Given the description of an element on the screen output the (x, y) to click on. 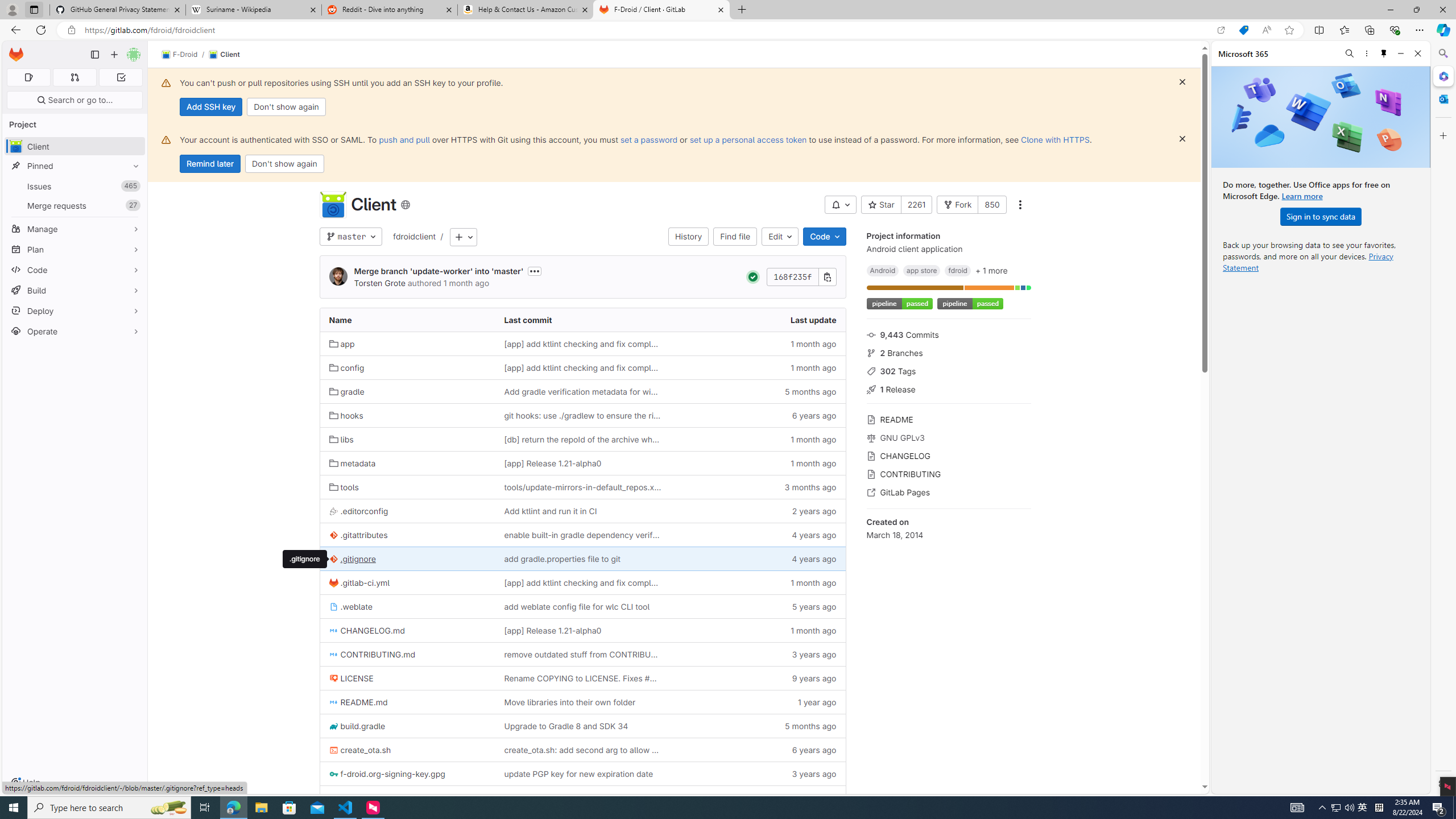
Last update (757, 319)
fdroidclient (414, 235)
GitLab Pages (948, 491)
More actions (1019, 204)
Client (224, 54)
Android (882, 269)
3 years ago (757, 773)
Merge requests27 (74, 205)
Pinned (74, 165)
Dismiss (1181, 138)
gradle (346, 391)
Unpin Issues (132, 186)
